Given the description of an element on the screen output the (x, y) to click on. 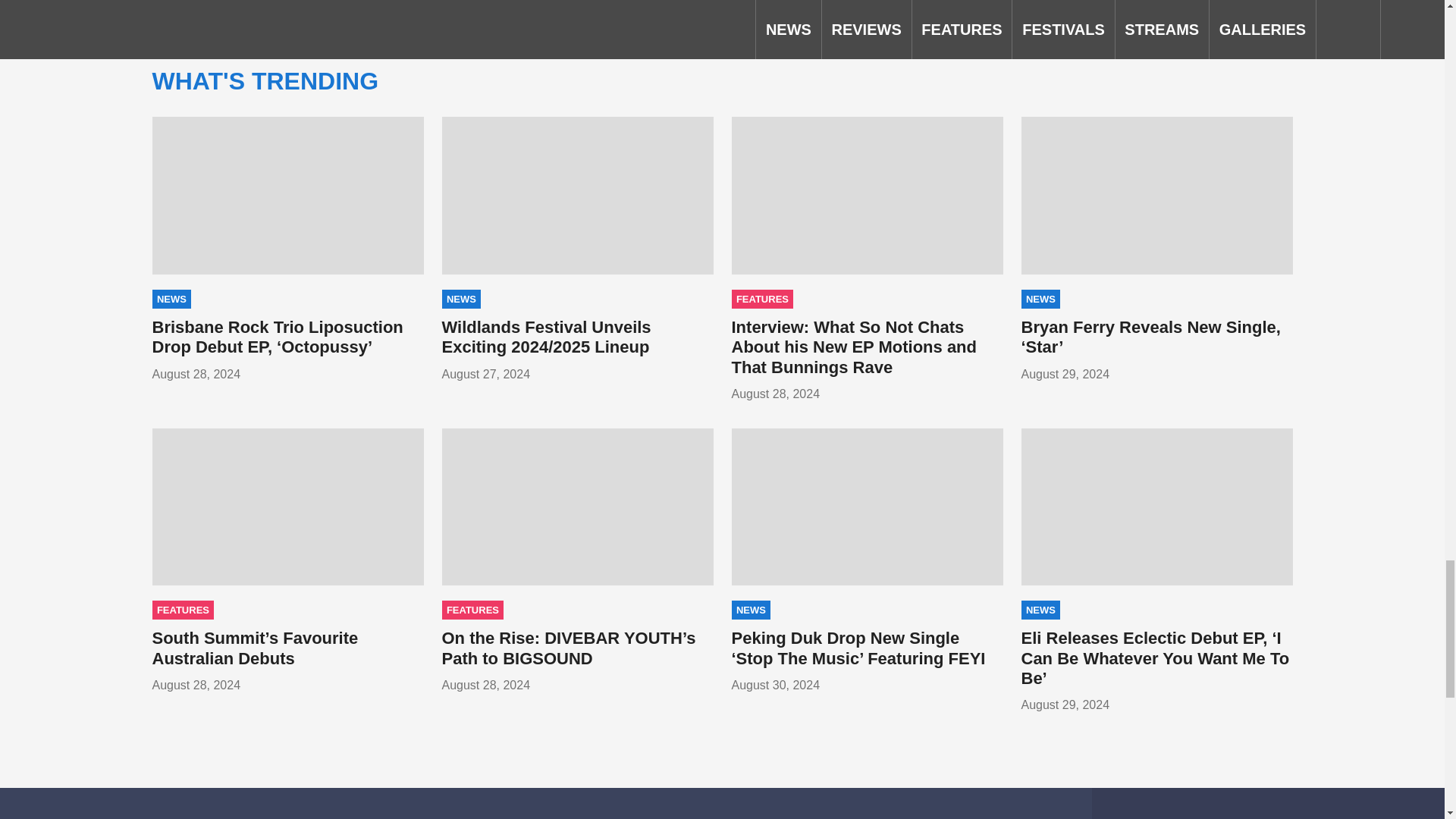
NEWS (170, 298)
NEWS (1039, 298)
FEATURES (761, 298)
NEWS (460, 298)
